Given the description of an element on the screen output the (x, y) to click on. 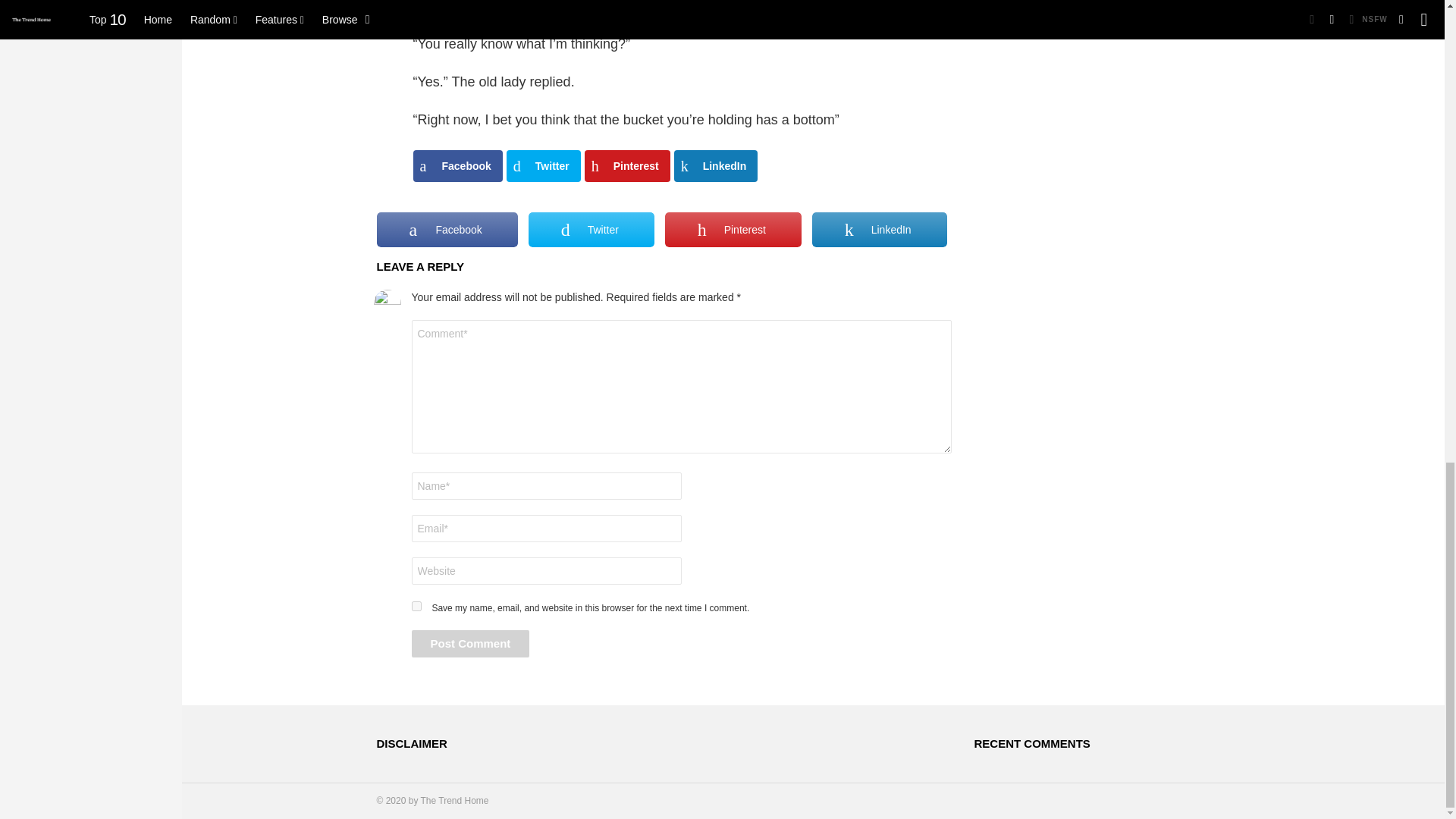
Share on Pinterest (627, 165)
LinkedIn (879, 229)
Pinterest (627, 165)
Pinterest (733, 229)
Share on Twitter (543, 165)
LinkedIn (716, 165)
Twitter (543, 165)
Facebook (445, 229)
Facebook (457, 165)
Twitter (590, 229)
